Given the description of an element on the screen output the (x, y) to click on. 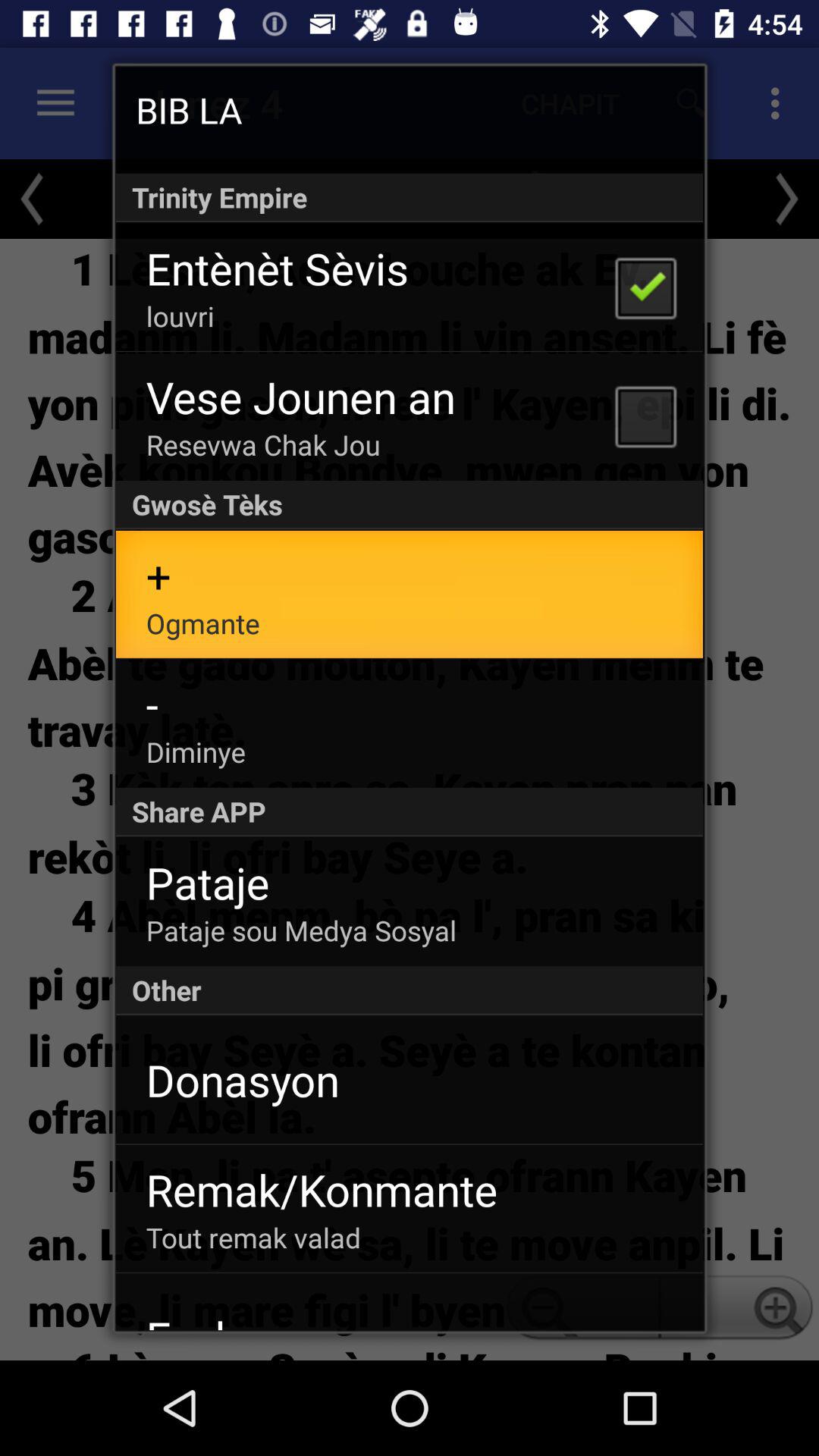
swipe to diminye app (195, 751)
